Given the description of an element on the screen output the (x, y) to click on. 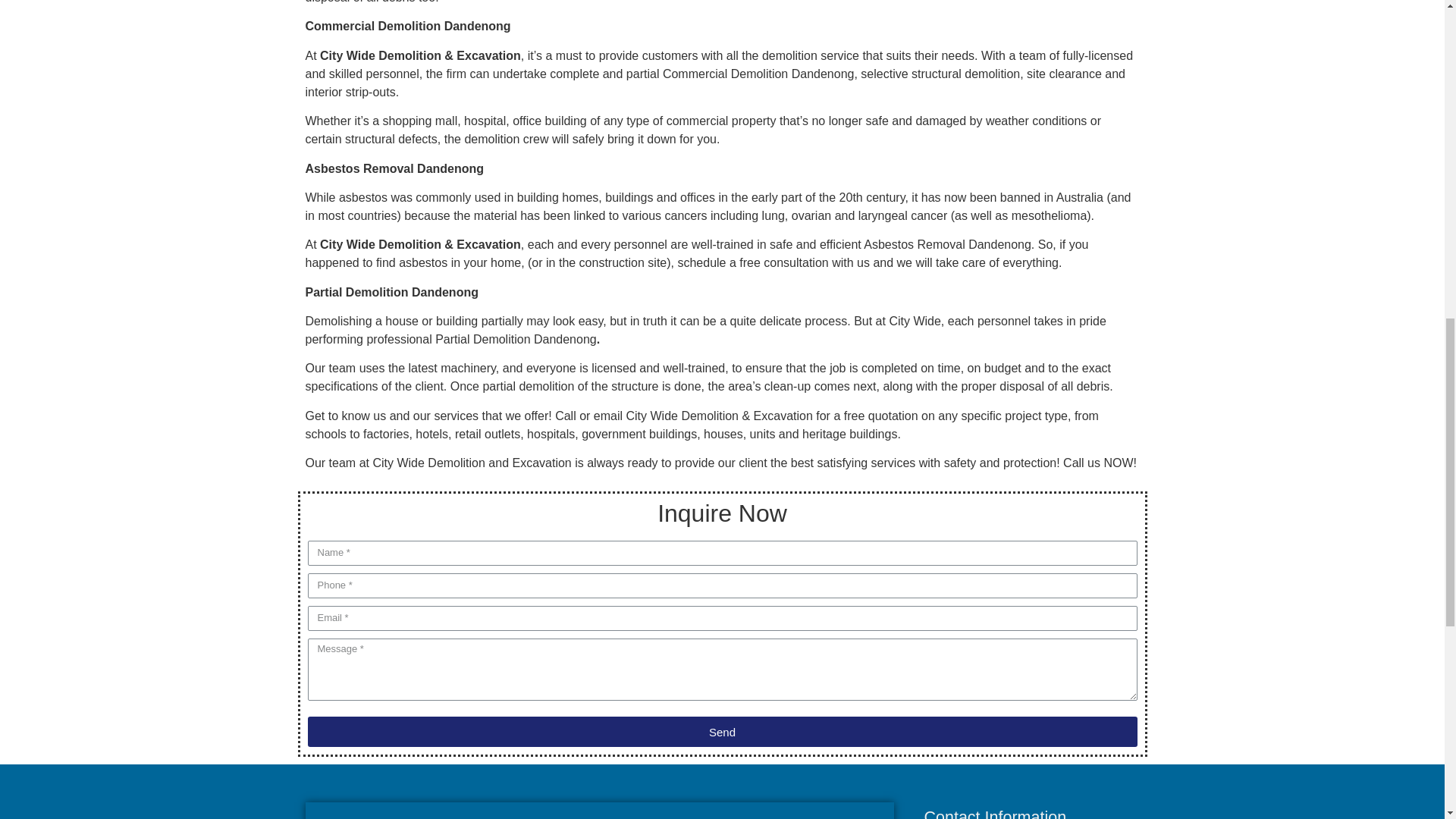
181 Cherry lane Laverton North (598, 810)
Send (722, 731)
